Given the description of an element on the screen output the (x, y) to click on. 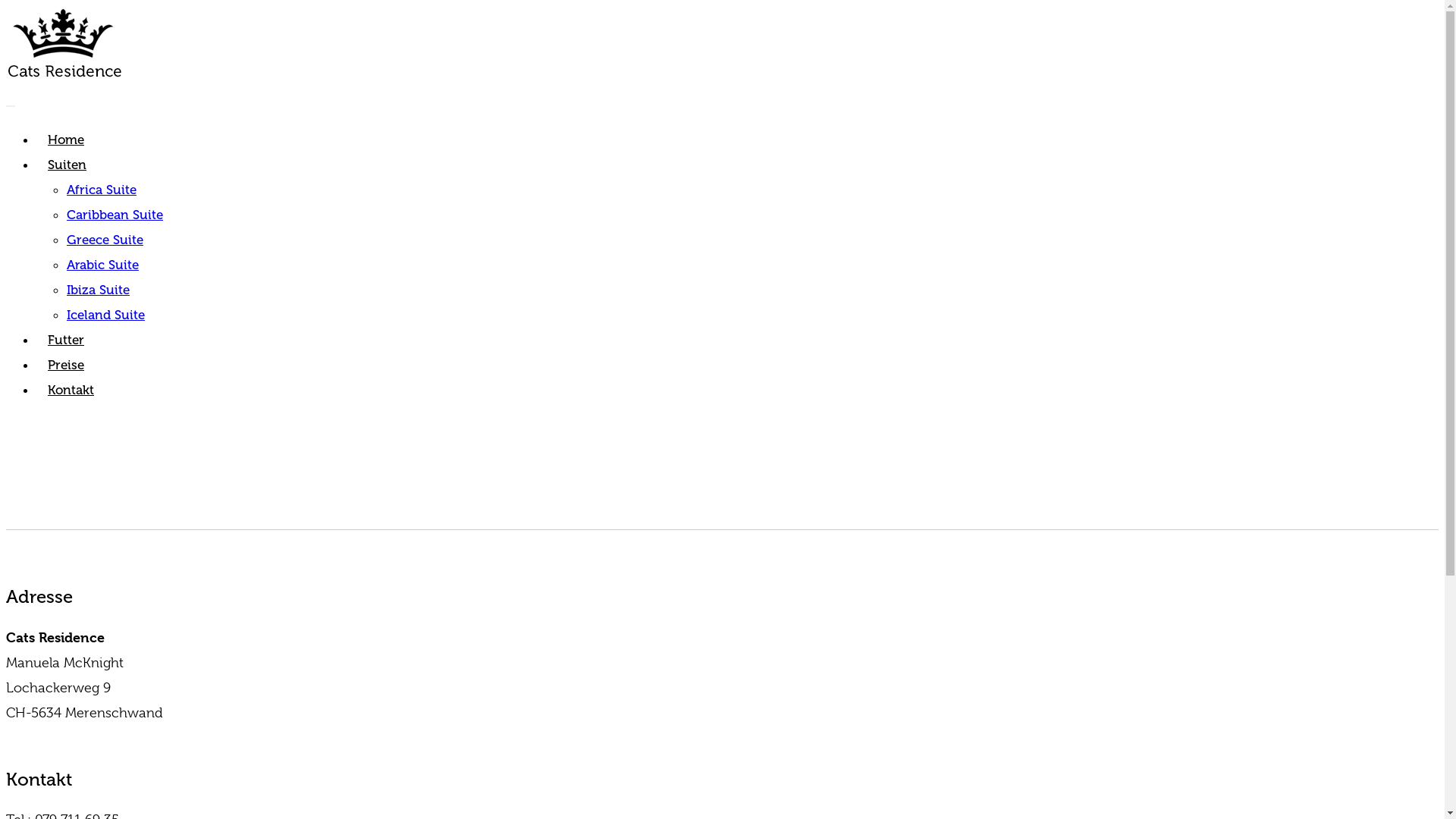
Futter Element type: text (65, 339)
Ibiza Suite Element type: text (97, 289)
Preise Element type: text (65, 364)
Iceland Suite Element type: text (105, 314)
Arabic Suite Element type: text (102, 264)
Home Element type: text (65, 139)
Kontakt Element type: text (70, 389)
Suiten Element type: text (66, 164)
Greece Suite Element type: text (104, 239)
Caribbean Suite Element type: text (114, 214)
Africa Suite Element type: text (101, 189)
